Given the description of an element on the screen output the (x, y) to click on. 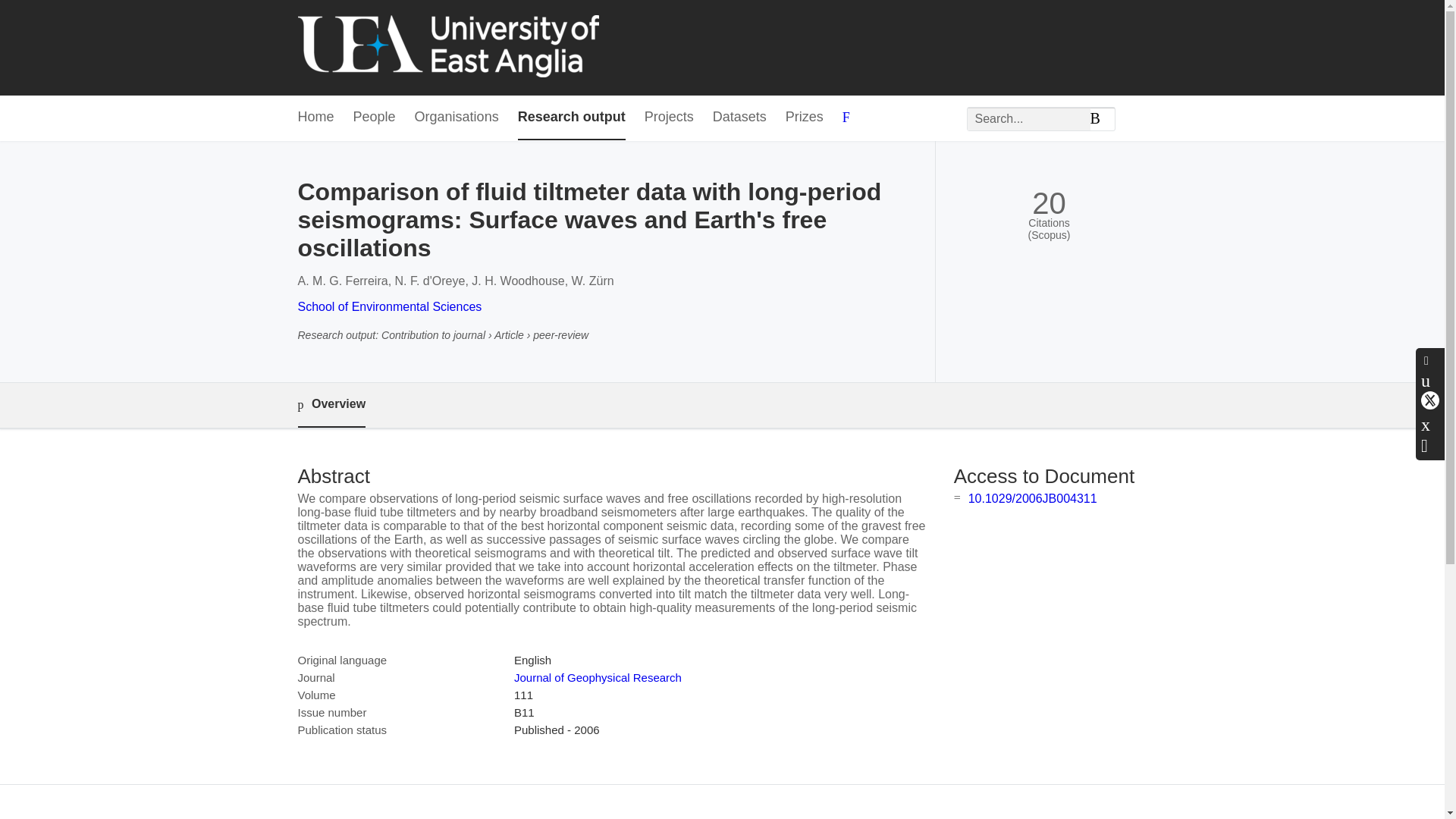
People (374, 117)
Projects (669, 117)
Overview (331, 405)
School of Environmental Sciences (389, 306)
Organisations (456, 117)
Journal of Geophysical Research (597, 676)
Research output (572, 117)
Datasets (740, 117)
University of East Anglia Home (447, 47)
